Given the description of an element on the screen output the (x, y) to click on. 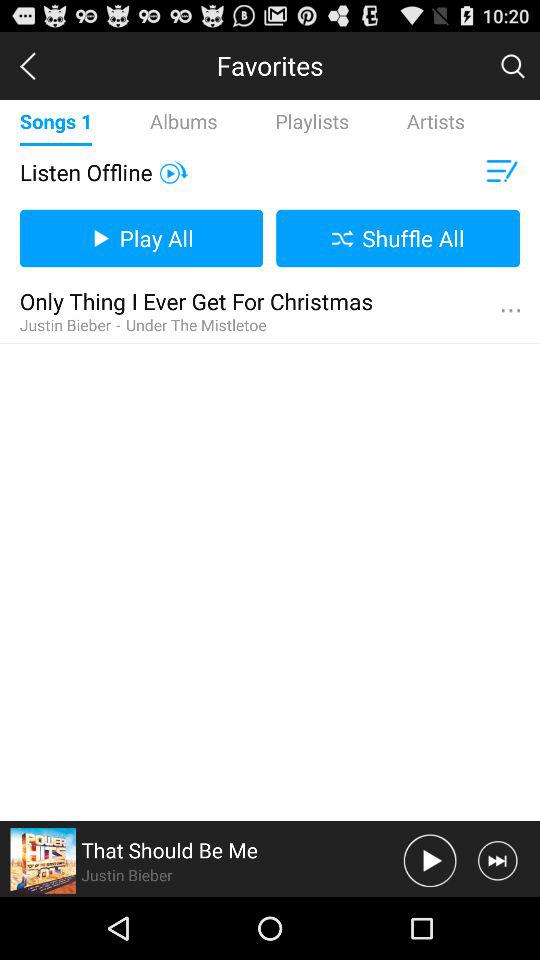
view options (510, 311)
